Given the description of an element on the screen output the (x, y) to click on. 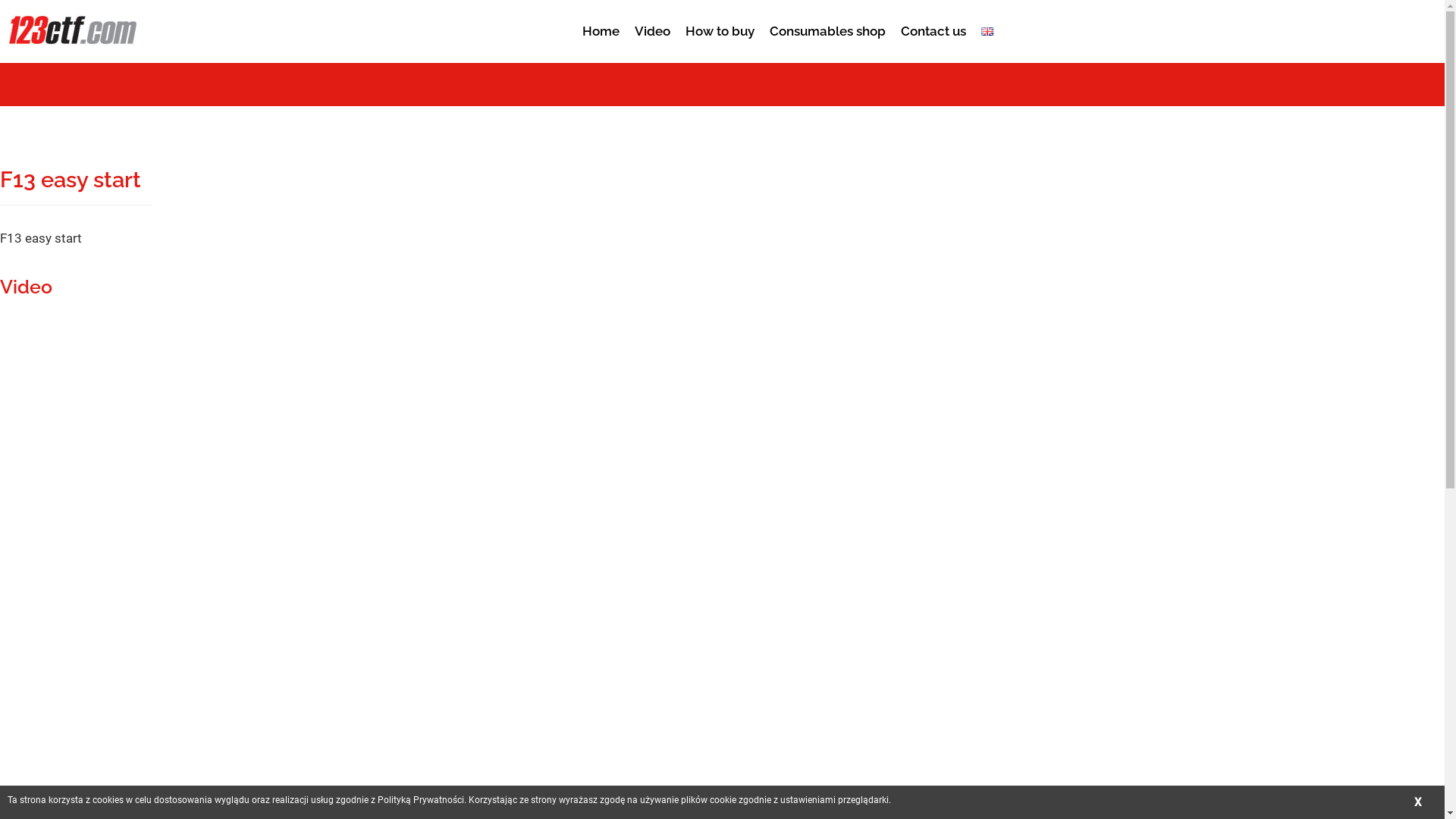
Consumables shop Element type: text (827, 22)
Contact us Element type: text (933, 22)
How to buy Element type: text (719, 22)
English Element type: hover (987, 31)
Home Element type: text (600, 22)
Video Element type: text (652, 22)
